Given the description of an element on the screen output the (x, y) to click on. 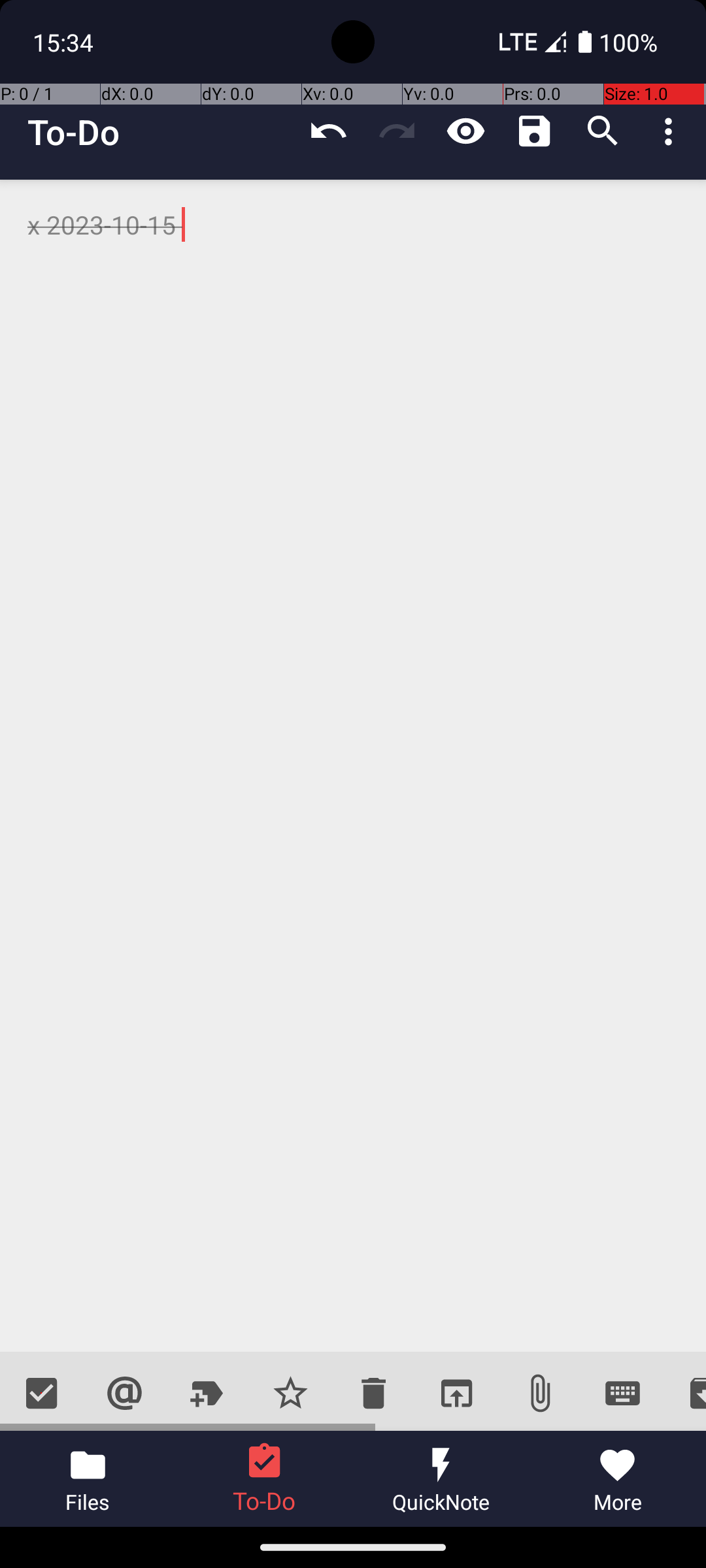
x 2023-10-15  Element type: android.widget.EditText (353, 765)
